Given the description of an element on the screen output the (x, y) to click on. 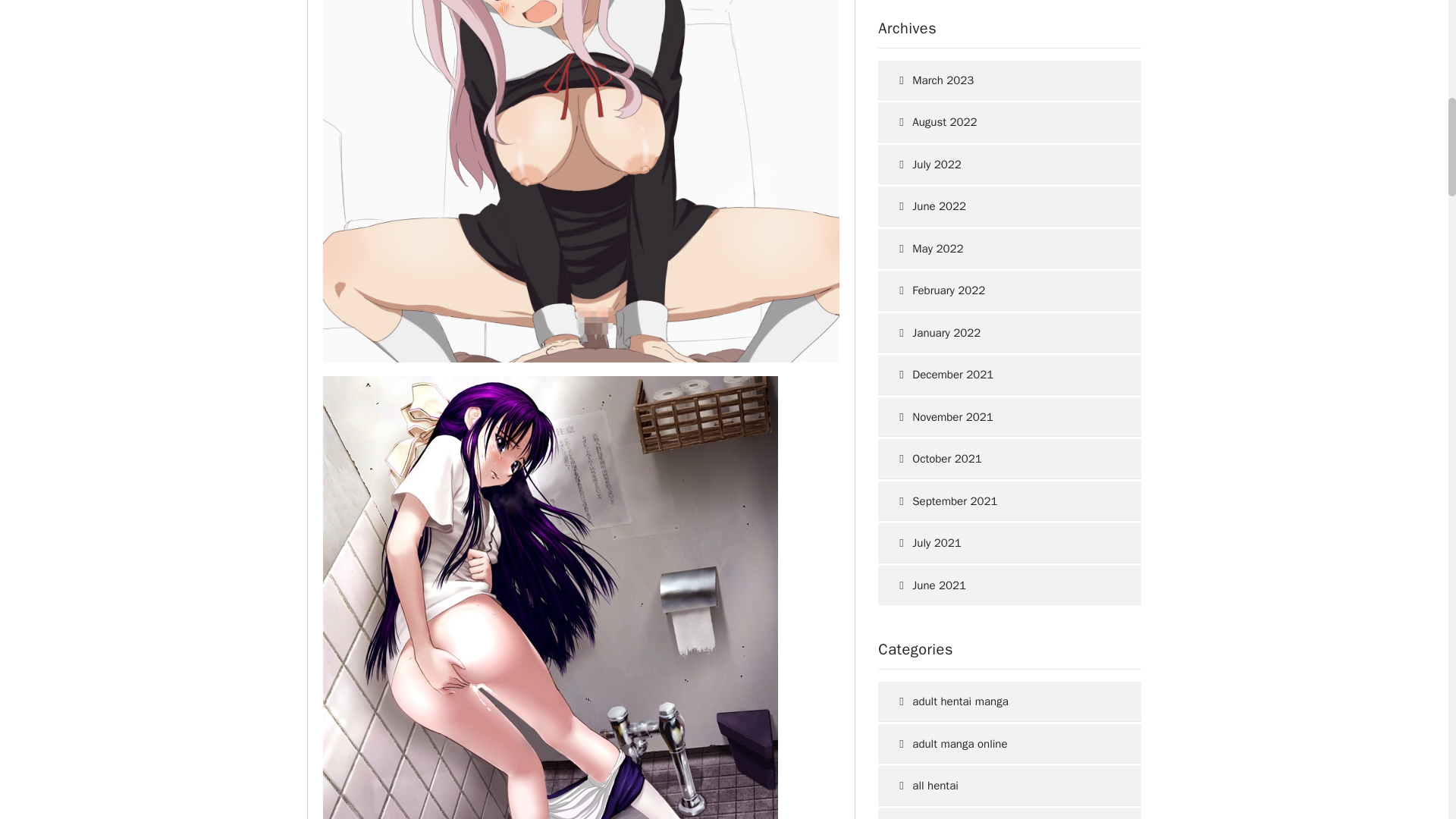
March 2023 (1003, 80)
September 2021 (1003, 501)
October 2021 (1003, 458)
June 2022 (1003, 206)
July 2021 (1003, 543)
July 2022 (1003, 164)
December 2021 (1003, 374)
May 2022 (1003, 249)
January 2022 (1003, 332)
August 2022 (1003, 122)
November 2021 (1003, 417)
February 2022 (1003, 291)
